Given the description of an element on the screen output the (x, y) to click on. 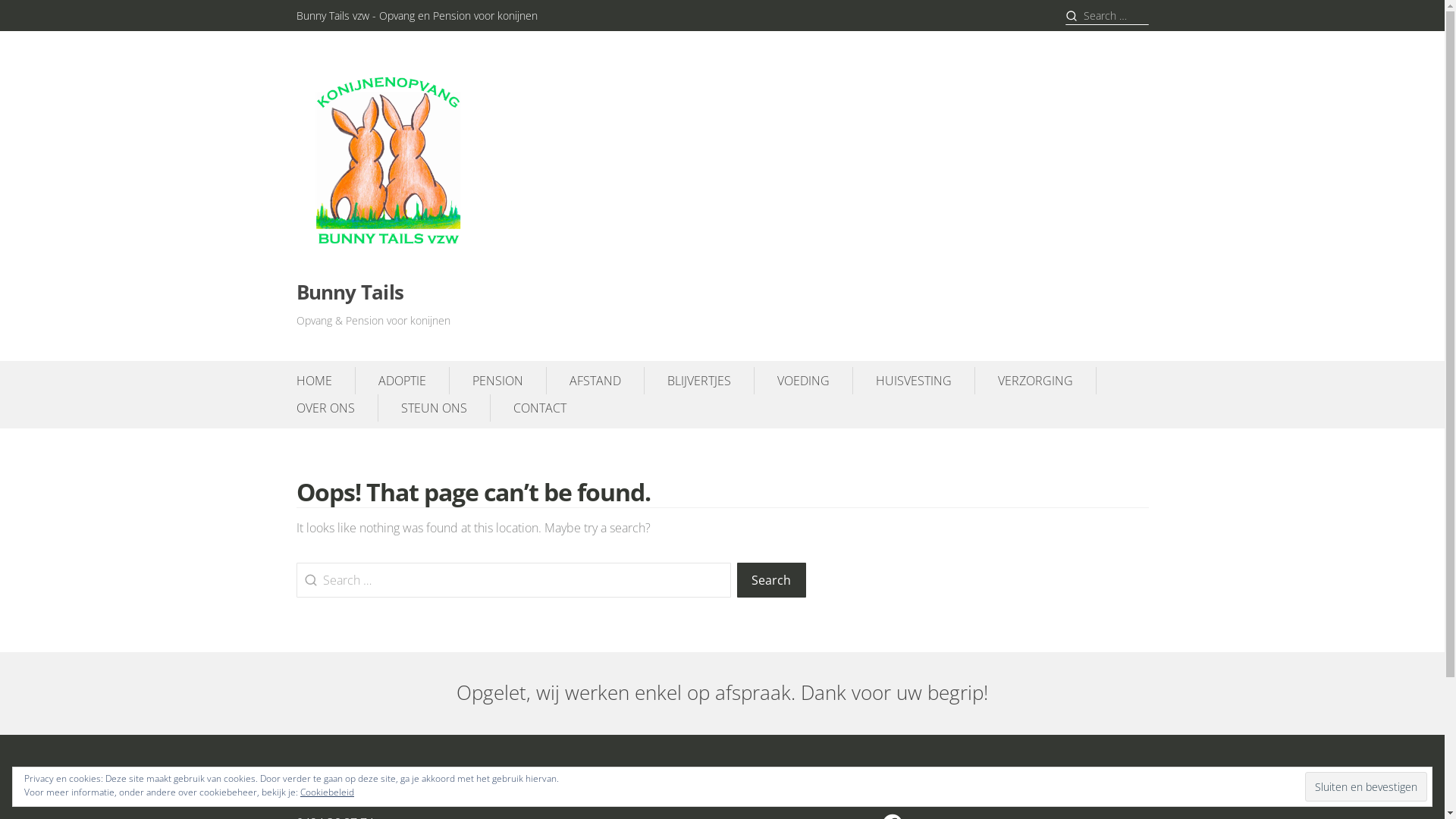
Search Element type: text (771, 579)
HOME Element type: text (313, 379)
VERZORGING Element type: text (1035, 379)
ADOPTIE Element type: text (401, 379)
PENSION Element type: text (496, 379)
Bunny Tails Element type: text (349, 292)
VOEDING Element type: text (802, 379)
HUISVESTING Element type: text (912, 379)
Sluiten en bevestigen Element type: text (1366, 786)
Cookiebeleid Element type: text (327, 791)
AFSTAND Element type: text (594, 379)
STEUN ONS Element type: text (433, 406)
OVER ONS Element type: text (324, 406)
BLIJVERTJES Element type: text (699, 379)
CONTACT Element type: text (538, 406)
